Given the description of an element on the screen output the (x, y) to click on. 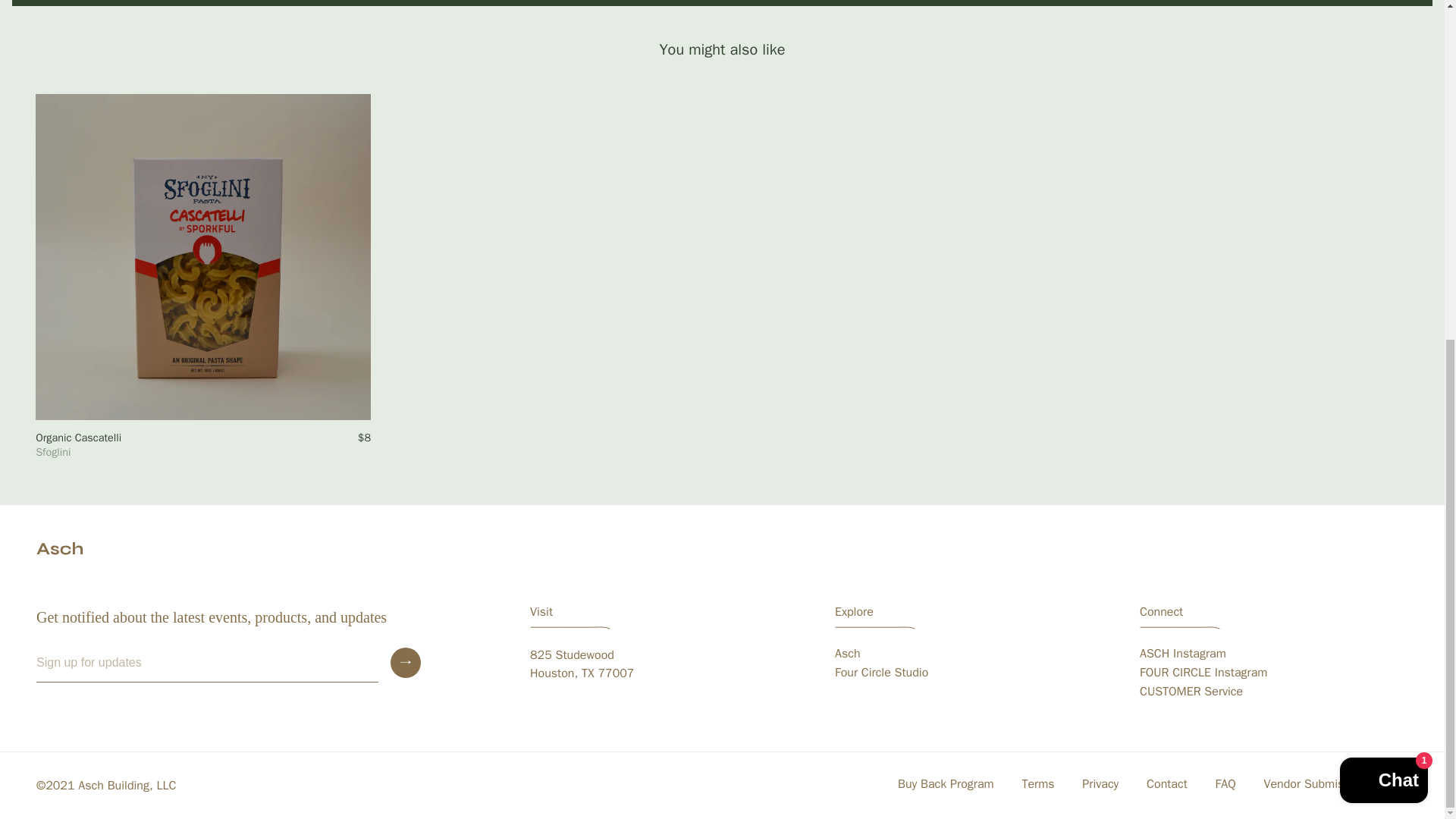
Asch (847, 653)
FOUR CIRCLE Instagram (1203, 672)
Contact (1166, 784)
Buy Back Program (945, 784)
FAQ (1225, 784)
Terms (1037, 784)
CUSTOMER Service (1191, 691)
Privacy (1100, 784)
Vendor Submission Form (1329, 784)
Shopify online store chat (1383, 207)
Four Circle Studio (881, 672)
ASCH Instagram (1182, 653)
Asch (581, 664)
